Given the description of an element on the screen output the (x, y) to click on. 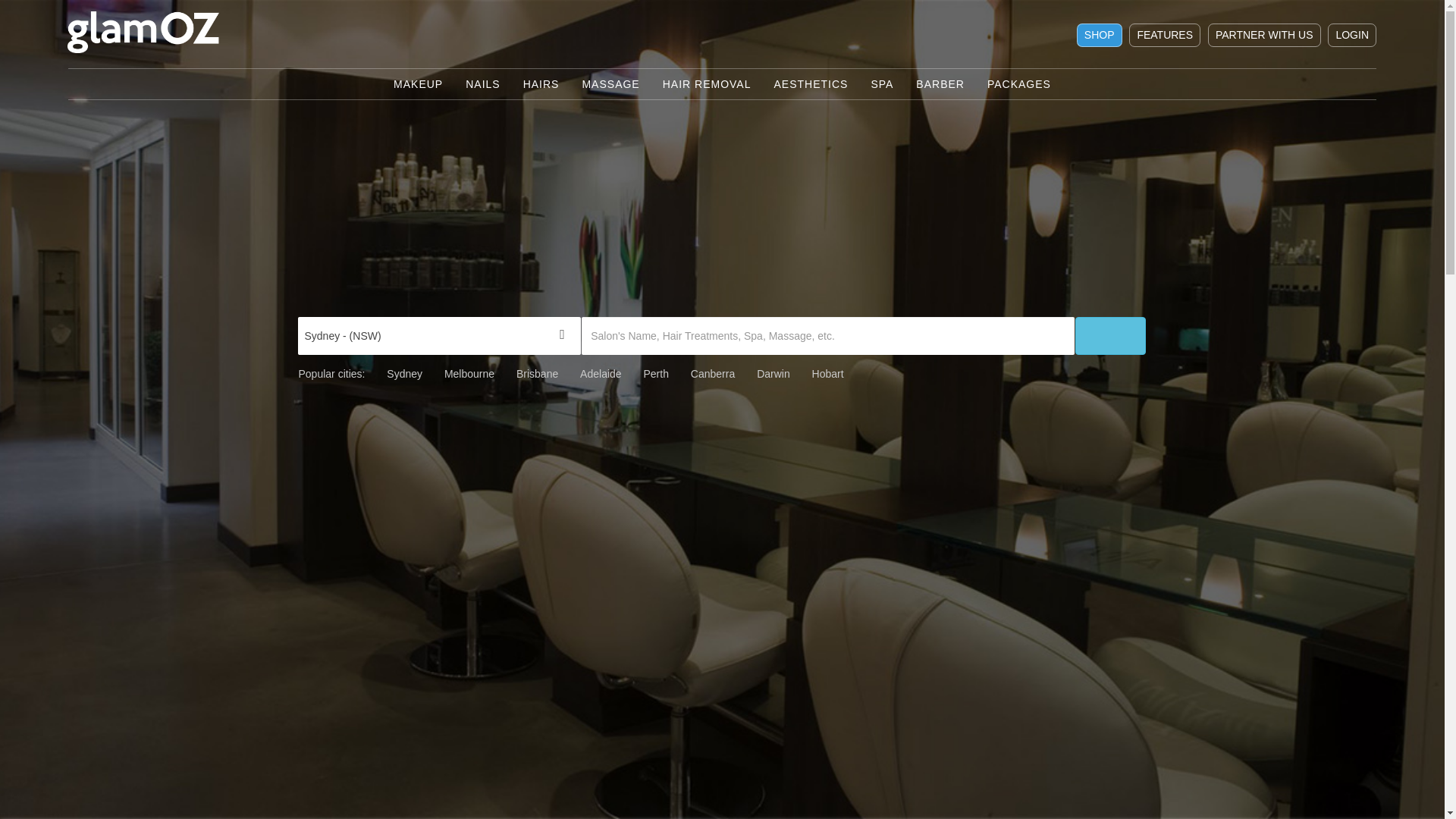
PACKAGES Element type: text (1018, 84)
FEATURES Element type: text (1164, 34)
MAKEUP Element type: text (418, 84)
Brisbane Element type: text (537, 373)
NAILS Element type: text (482, 84)
Darwin Element type: text (773, 373)
HAIRS Element type: text (541, 84)
Hobart Element type: text (828, 373)
Melbourne Element type: text (469, 373)
Canberra Element type: text (712, 373)
Perth Element type: text (655, 373)
Adelaide Element type: text (600, 373)
AESTHETICS Element type: text (810, 84)
SHOP Element type: text (1099, 34)
Sydney Element type: text (404, 373)
BARBER Element type: text (939, 84)
PARTNER WITH US Element type: text (1264, 34)
MASSAGE Element type: text (610, 84)
SPA Element type: text (881, 84)
HAIR REMOVAL Element type: text (706, 84)
LOGIN Element type: text (1352, 34)
Sydney - (NSW) Element type: text (439, 335)
